Given the description of an element on the screen output the (x, y) to click on. 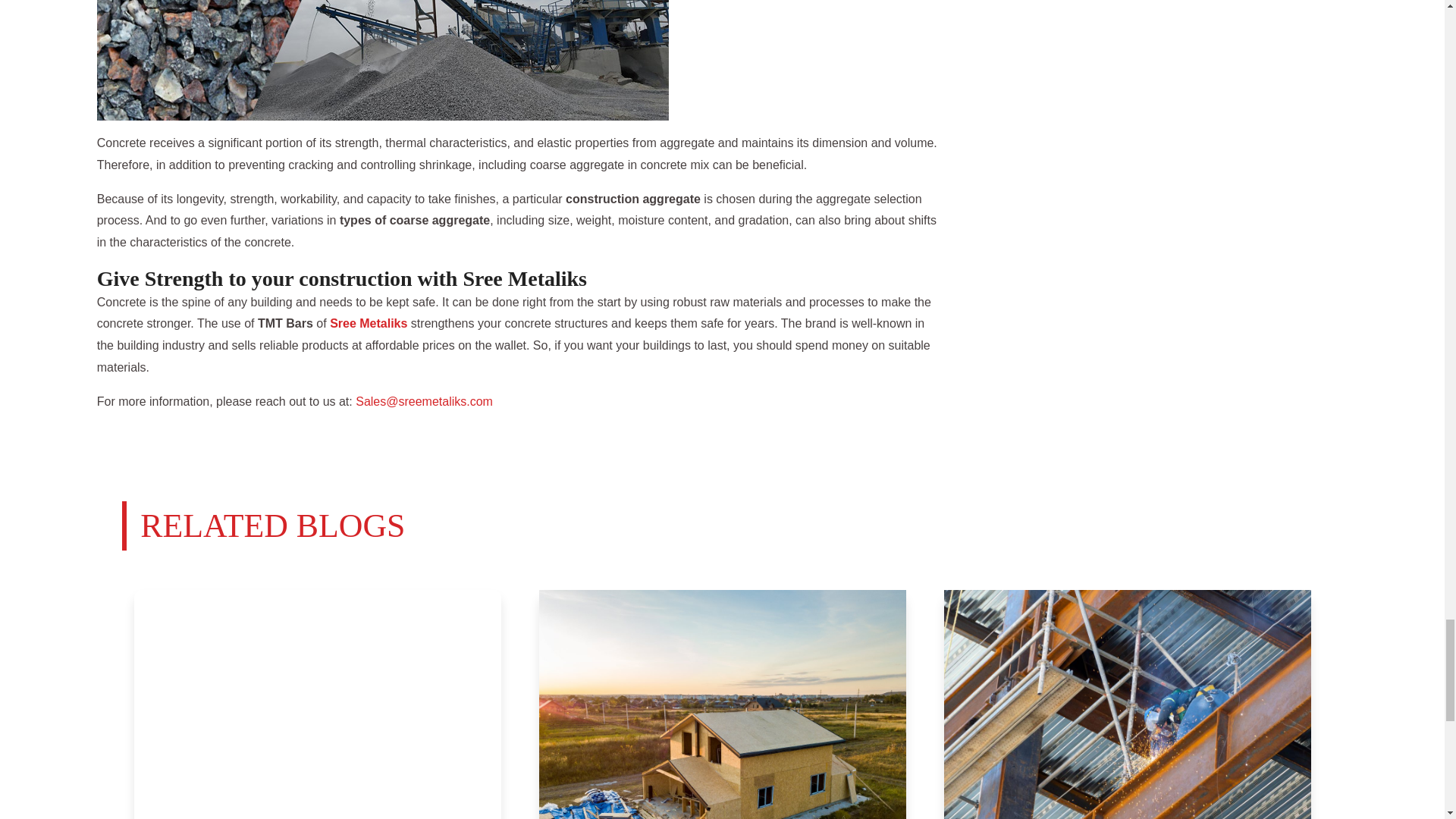
Sree Metaliks (368, 323)
